Given the description of an element on the screen output the (x, y) to click on. 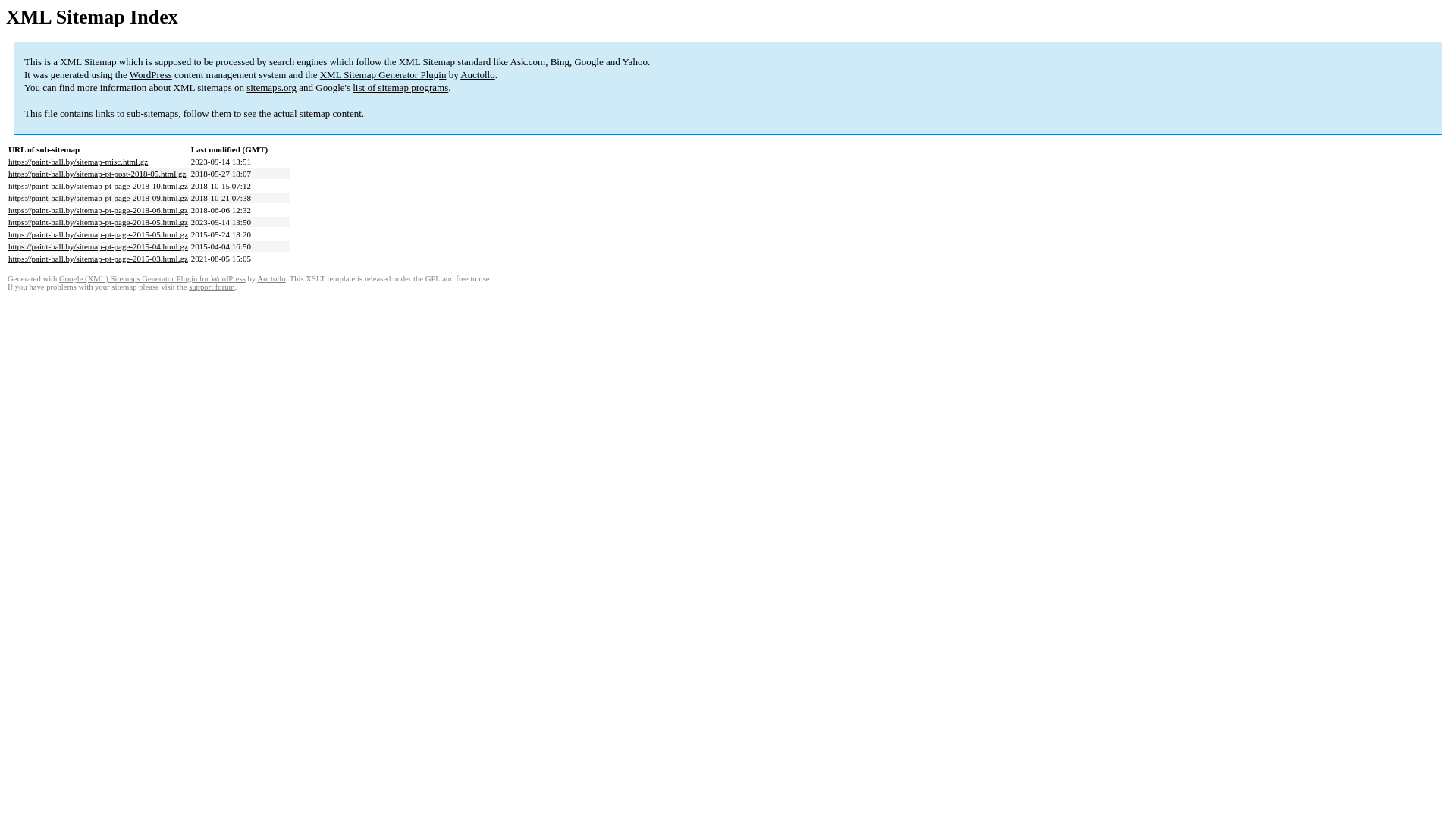
sitemaps.org Element type: text (271, 87)
support forum Element type: text (211, 286)
https://paint-ball.by/sitemap-pt-page-2018-06.html.gz Element type: text (98, 209)
https://paint-ball.by/sitemap-pt-page-2015-05.html.gz Element type: text (98, 233)
Google (XML) Sitemaps Generator Plugin for WordPress Element type: text (152, 278)
WordPress Element type: text (150, 74)
https://paint-ball.by/sitemap-misc.html.gz Element type: text (77, 161)
https://paint-ball.by/sitemap-pt-page-2018-10.html.gz Element type: text (98, 185)
https://paint-ball.by/sitemap-pt-page-2018-05.html.gz Element type: text (98, 221)
https://paint-ball.by/sitemap-pt-post-2018-05.html.gz Element type: text (96, 173)
Auctollo Element type: text (477, 74)
https://paint-ball.by/sitemap-pt-page-2015-04.html.gz Element type: text (98, 246)
https://paint-ball.by/sitemap-pt-page-2015-03.html.gz Element type: text (98, 258)
Auctollo Element type: text (271, 278)
https://paint-ball.by/sitemap-pt-page-2018-09.html.gz Element type: text (98, 197)
XML Sitemap Generator Plugin Element type: text (383, 74)
list of sitemap programs Element type: text (400, 87)
